Given the description of an element on the screen output the (x, y) to click on. 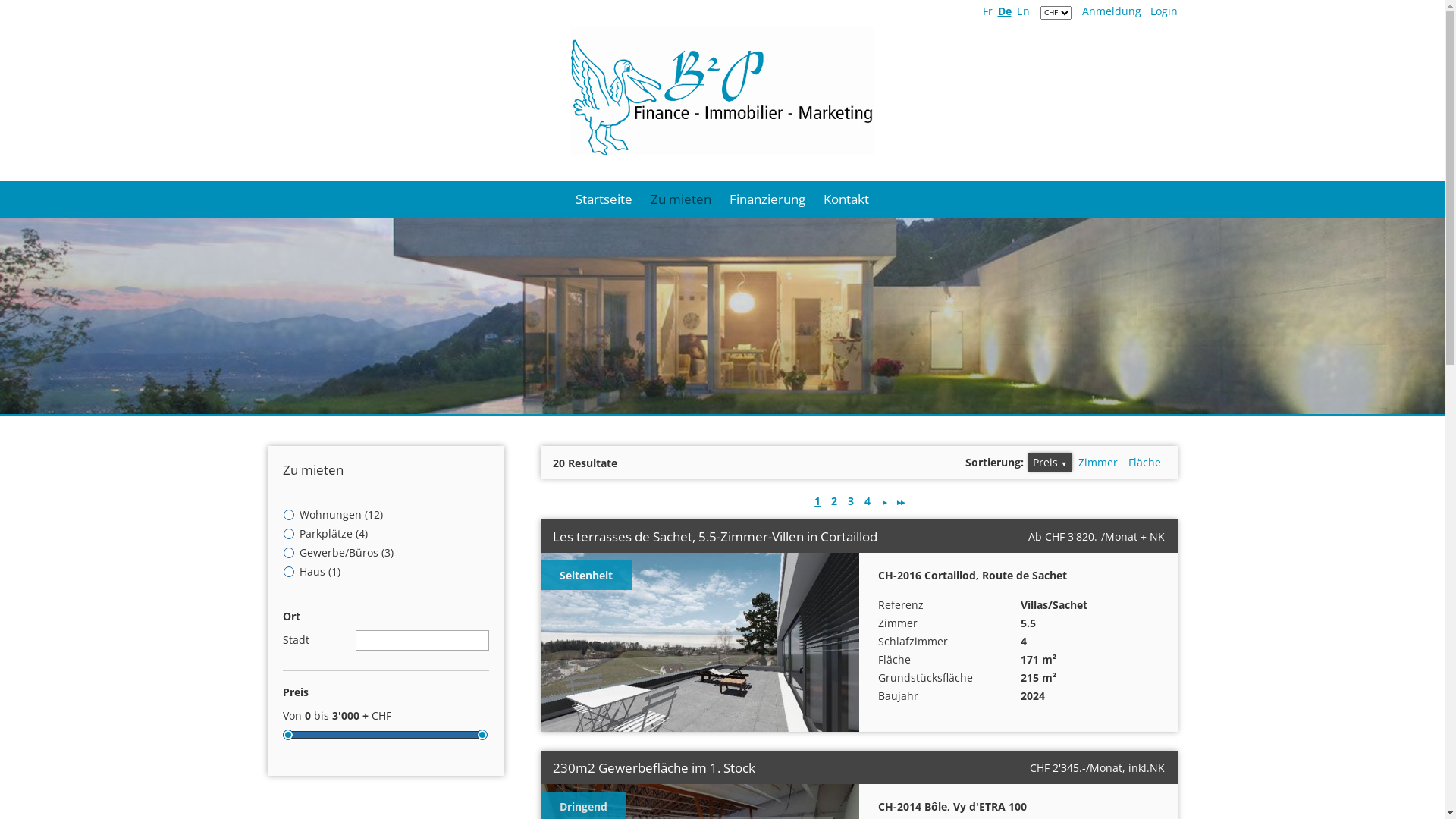
Kontakt Element type: text (846, 199)
3 Element type: text (850, 499)
Zimmer Element type: text (1097, 461)
Zu mieten Element type: text (680, 199)
Fr Element type: text (987, 10)
Finanzierung Element type: text (767, 199)
Startseite Element type: text (603, 199)
En Element type: text (1022, 10)
Login Element type: text (1162, 10)
De Element type: text (1004, 10)
2 Element type: text (833, 499)
Anmeldung Element type: text (1110, 10)
4 Element type: text (867, 499)
